Given the description of an element on the screen output the (x, y) to click on. 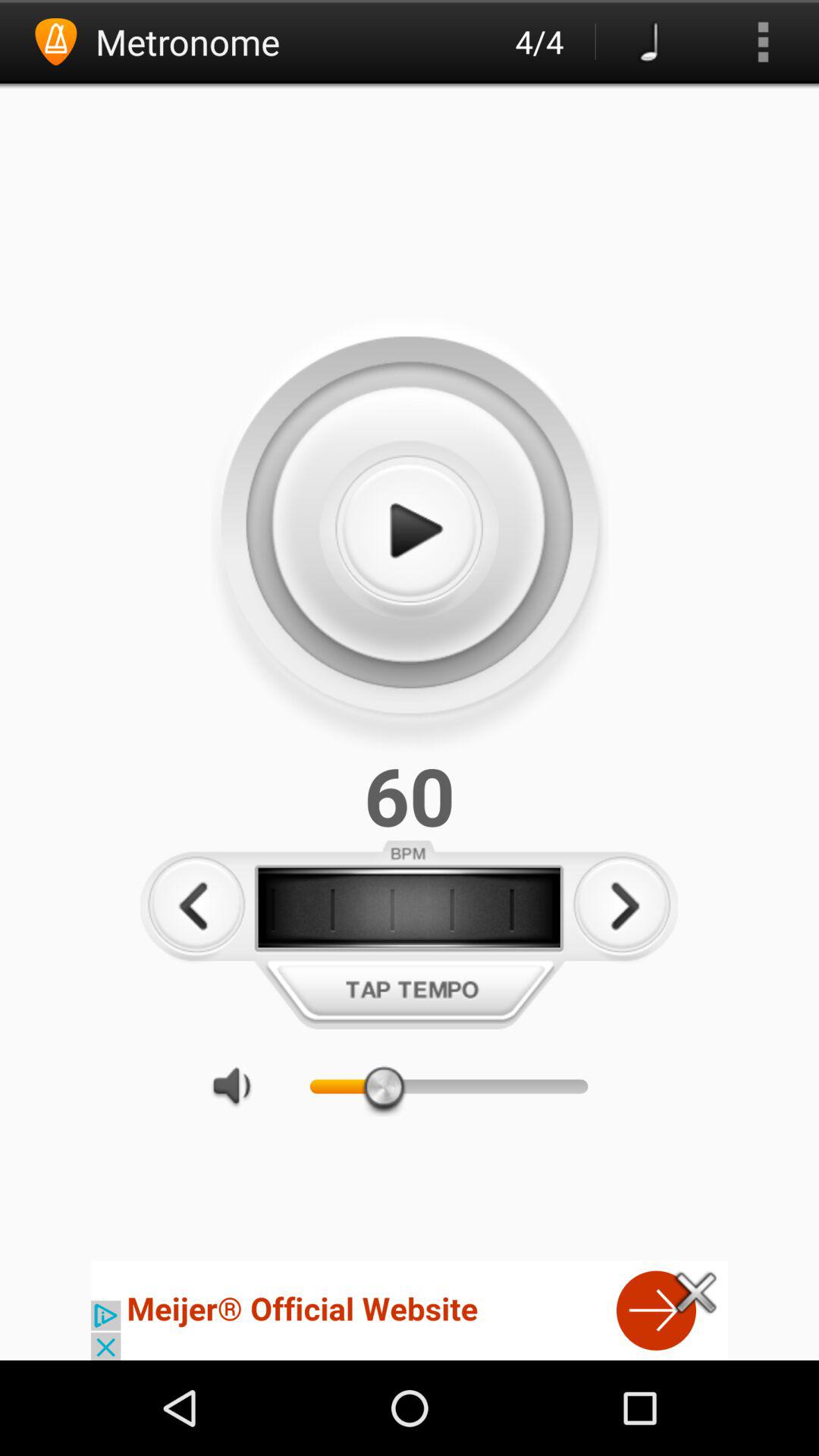
play (408, 530)
